Given the description of an element on the screen output the (x, y) to click on. 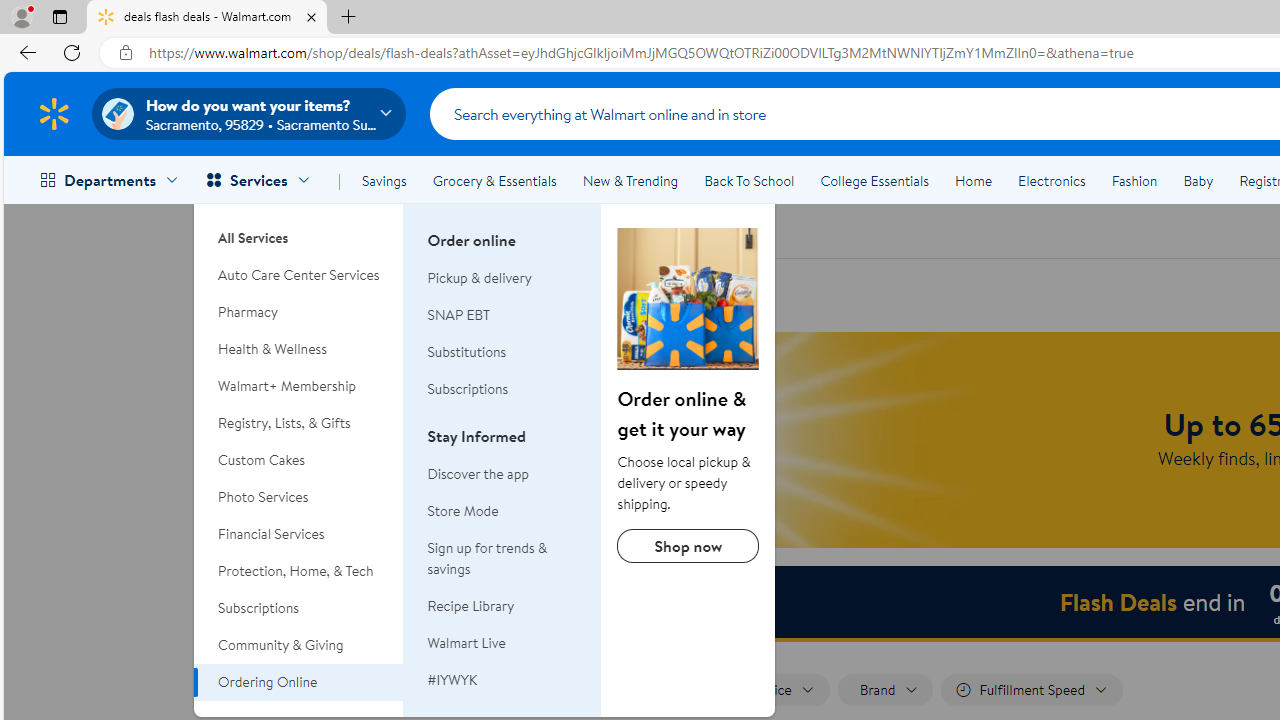
Subscriptions (468, 388)
Photo Services (299, 497)
Community & Giving (299, 645)
New & Trending (630, 180)
All filters none applied, activate to change (541, 690)
Protection, Home, & Tech (299, 570)
Walmart+ Membership (299, 385)
Walmart Homepage (53, 113)
Pharmacy (299, 312)
Grocery & Essentials (493, 180)
